Given the description of an element on the screen output the (x, y) to click on. 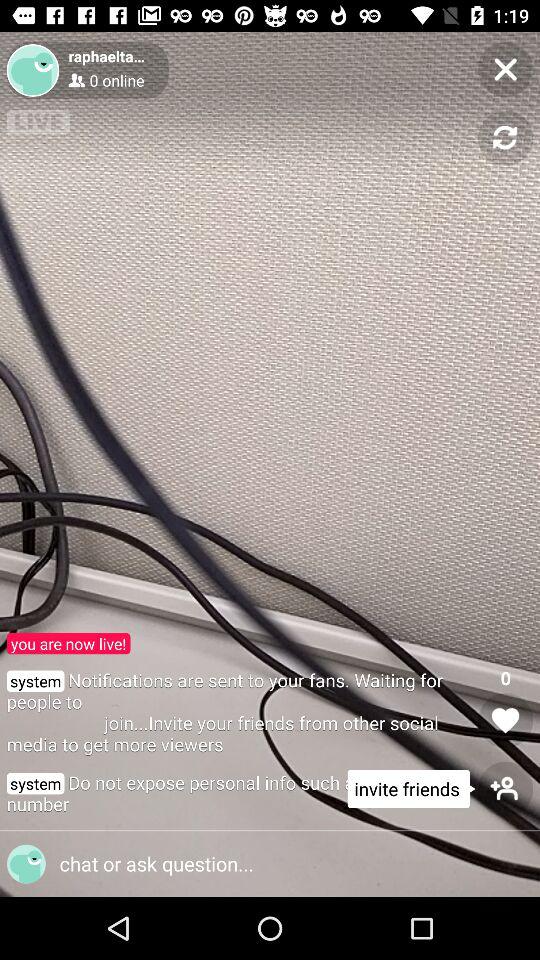
sharing informations (261, 863)
